Given the description of an element on the screen output the (x, y) to click on. 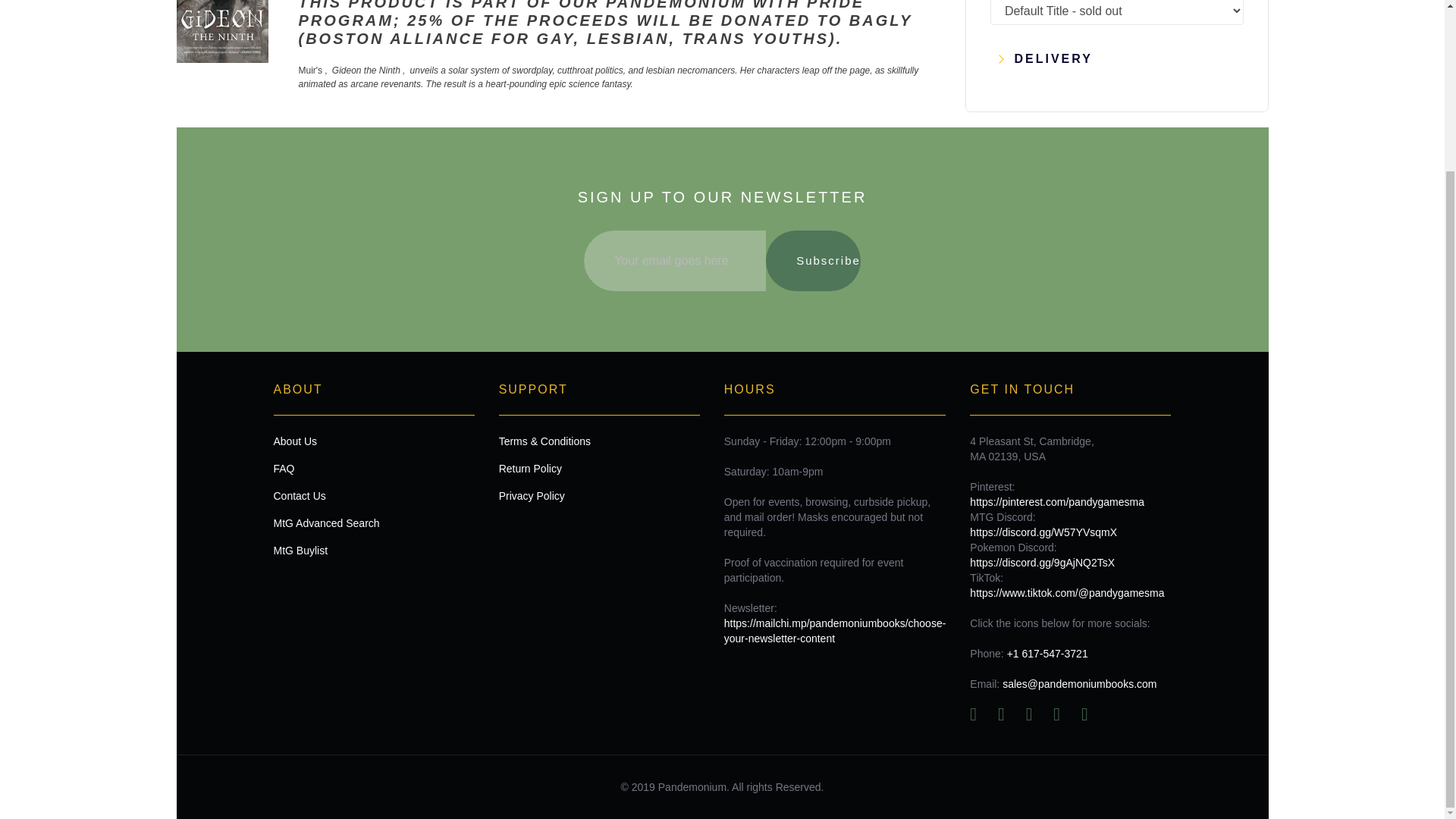
MtG Buylist (373, 549)
FAQ (373, 468)
About Us (373, 441)
Privacy Policy (599, 495)
MtG Advanced Search (373, 522)
Contact Us (373, 495)
Return Policy (599, 468)
Submit (722, 63)
Subscribe (812, 260)
Subscribe (812, 260)
